Given the description of an element on the screen output the (x, y) to click on. 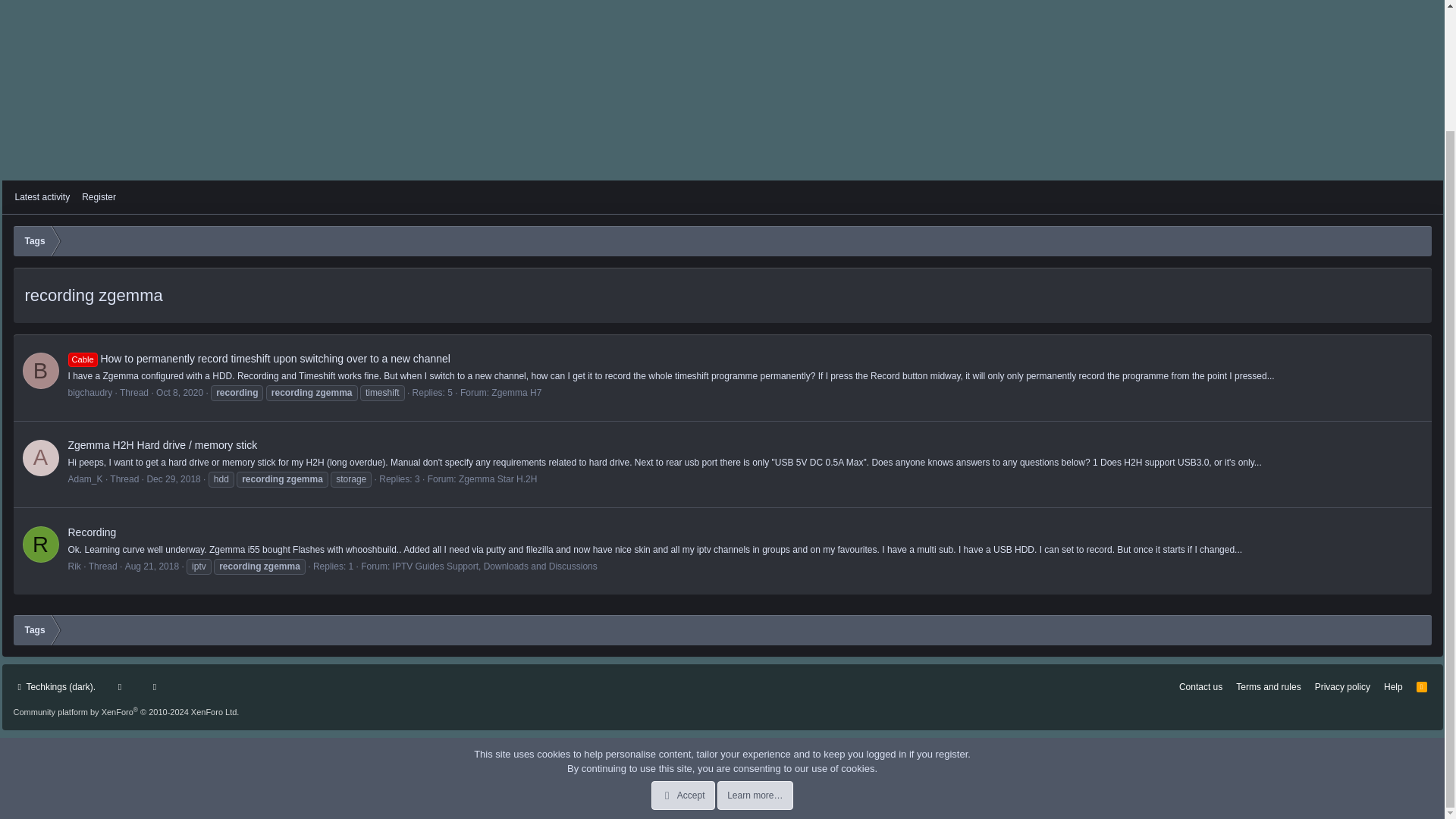
Dec 29, 2018 at 12:53 PM (173, 479)
Aug 21, 2018 at 10:41 PM (152, 566)
Oct 8, 2020 at 11:46 PM (721, 213)
